Given the description of an element on the screen output the (x, y) to click on. 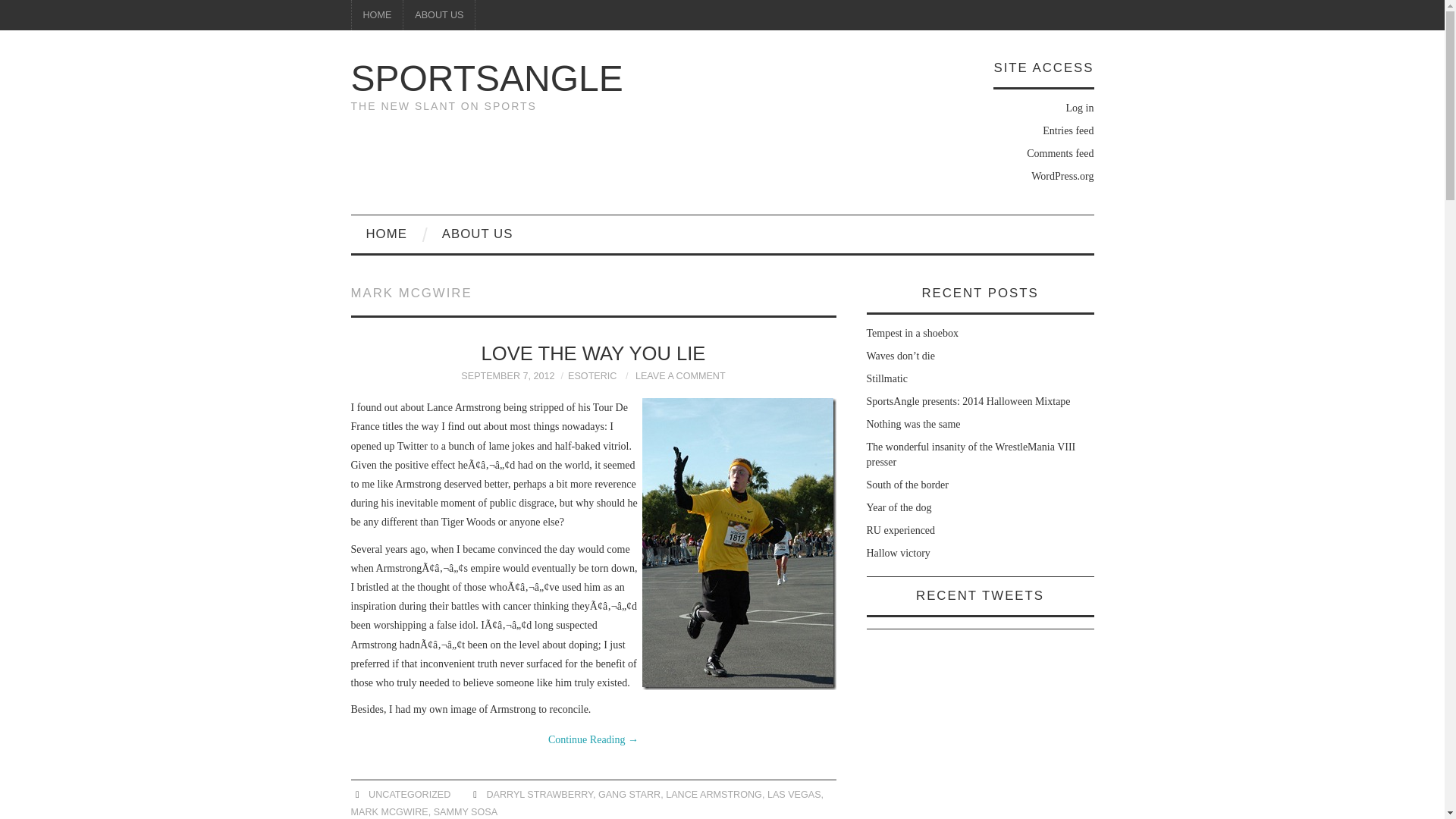
HOME (386, 234)
ABOUT US (438, 15)
Log in (1079, 107)
LANCE ARMSTRONG (713, 794)
DARRYL STRAWBERRY (539, 794)
UNCATEGORIZED (408, 794)
LEAVE A COMMENT (679, 376)
LOVE THE WAY YOU LIE (593, 353)
Comments feed (1059, 153)
Entries feed (1067, 130)
